Given the description of an element on the screen output the (x, y) to click on. 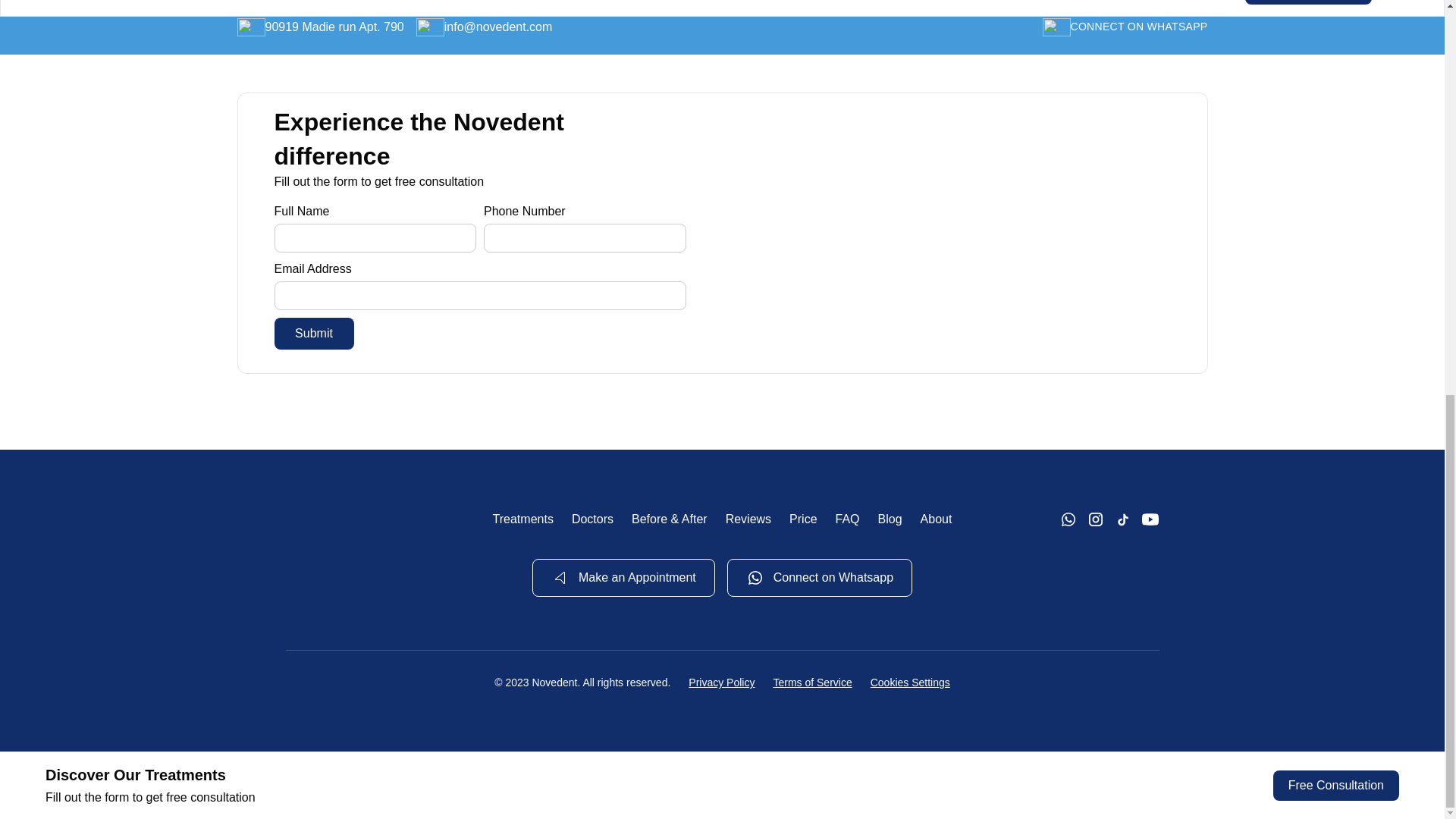
Treatments (523, 519)
Submit (314, 333)
Reviews (748, 519)
Price (802, 519)
Submit (314, 333)
Doctors (592, 519)
